Given the description of an element on the screen output the (x, y) to click on. 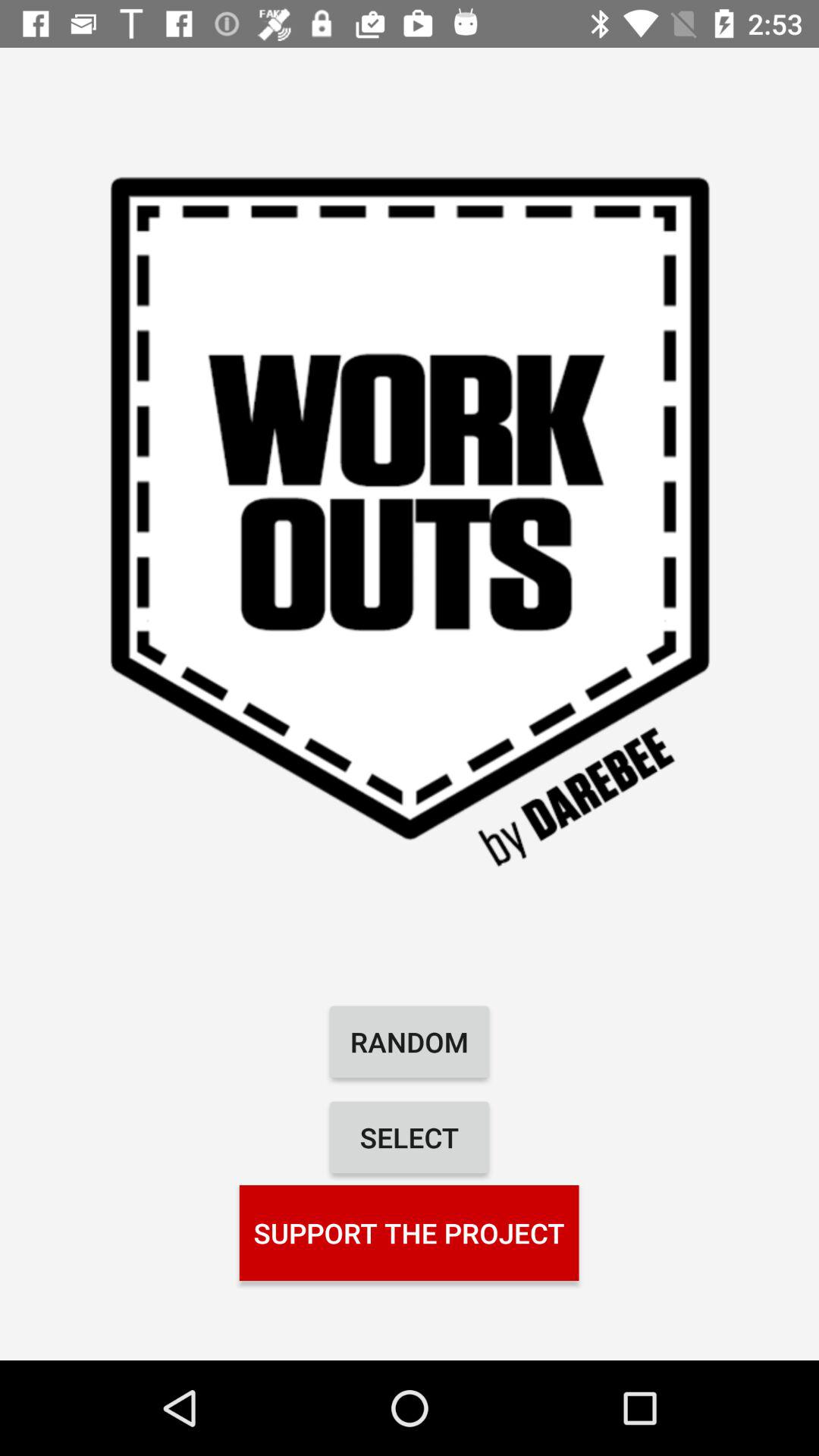
flip until the select (409, 1137)
